Given the description of an element on the screen output the (x, y) to click on. 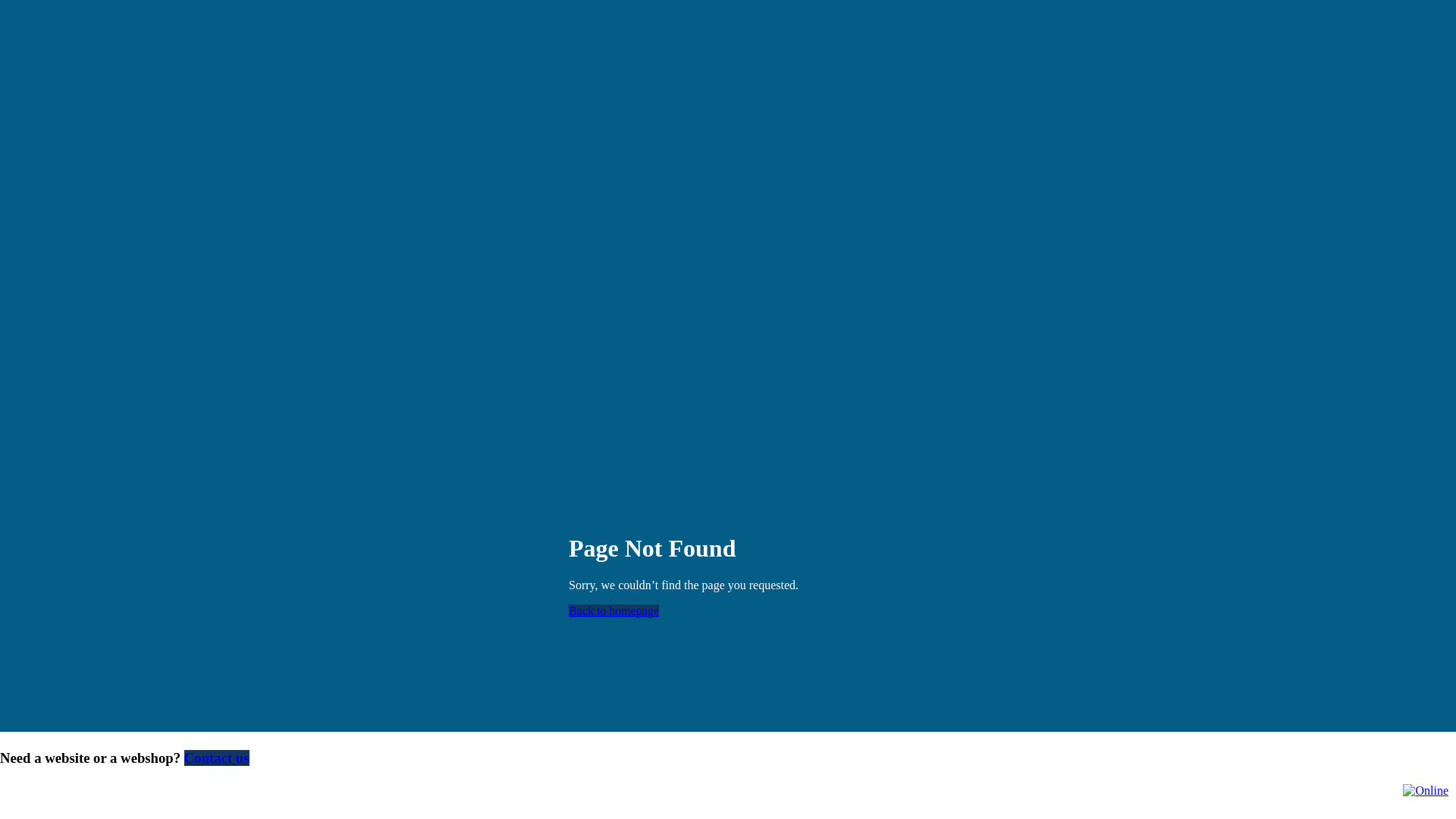
Contact us Element type: text (216, 757)
Back to homepage Element type: text (613, 610)
